Given the description of an element on the screen output the (x, y) to click on. 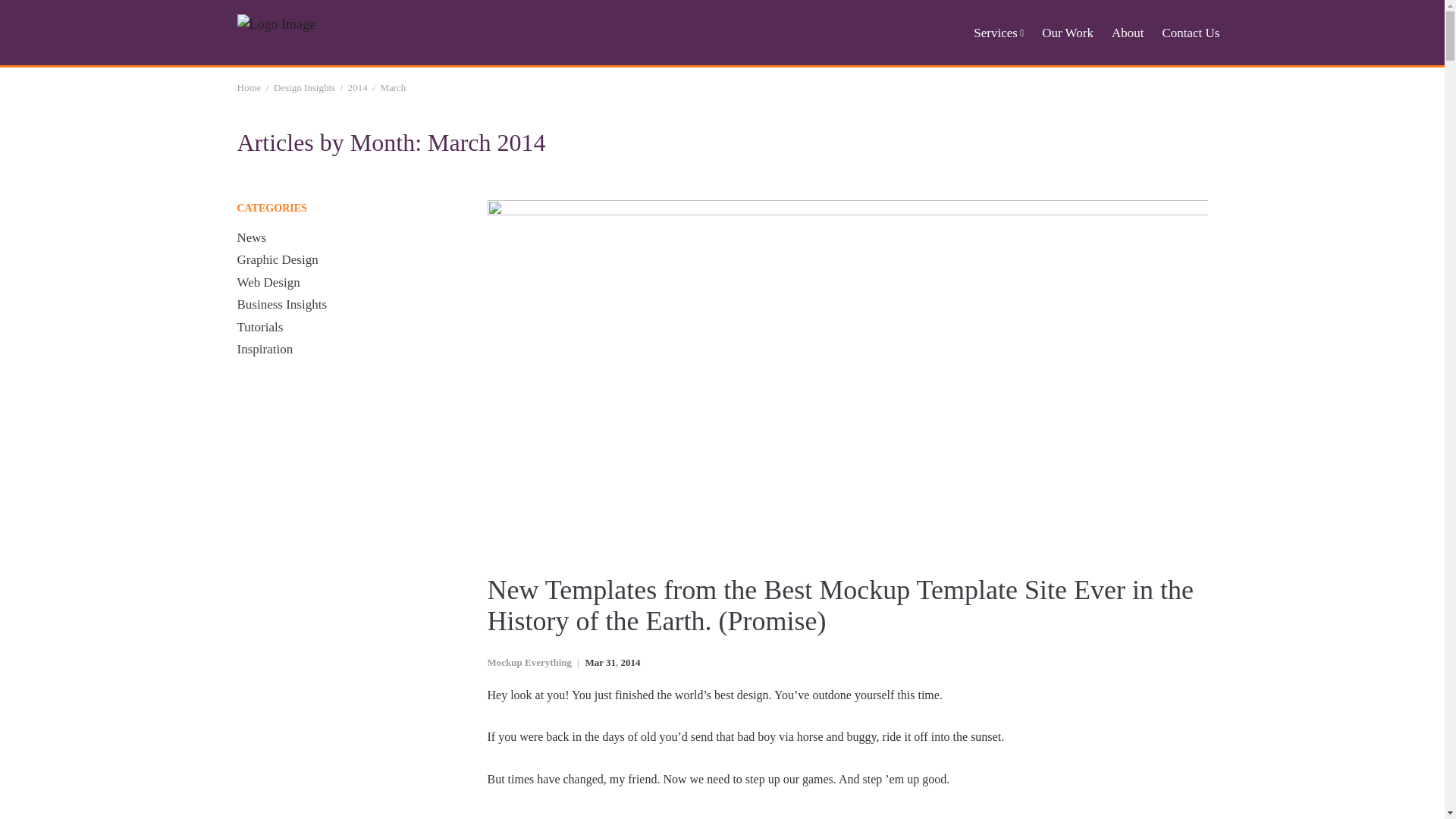
About (1128, 34)
Services (998, 34)
Archive for 2014 (630, 662)
Archive for March 2014 (593, 662)
Go to the 2014 archives. (357, 87)
Home (247, 87)
Go to Design Insights. (303, 87)
2014 (630, 662)
Our Work (1067, 34)
View all posts by Mockup Everything (529, 662)
Mockup Everything (529, 662)
Design Insights (303, 87)
2014 (357, 87)
Mar (593, 662)
Contact Us (1190, 34)
